Given the description of an element on the screen output the (x, y) to click on. 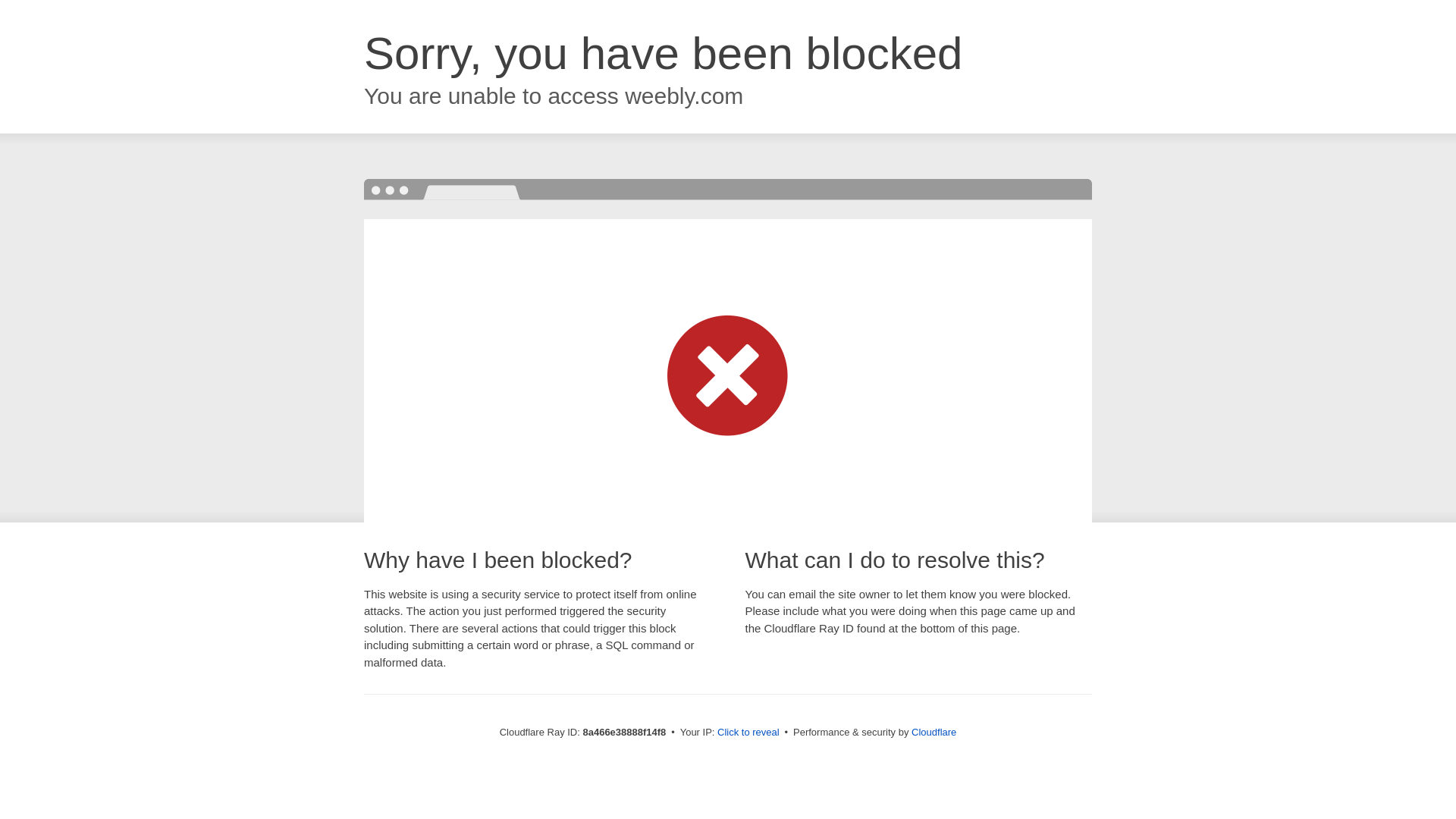
Cloudflare (933, 731)
Click to reveal (747, 732)
